Given the description of an element on the screen output the (x, y) to click on. 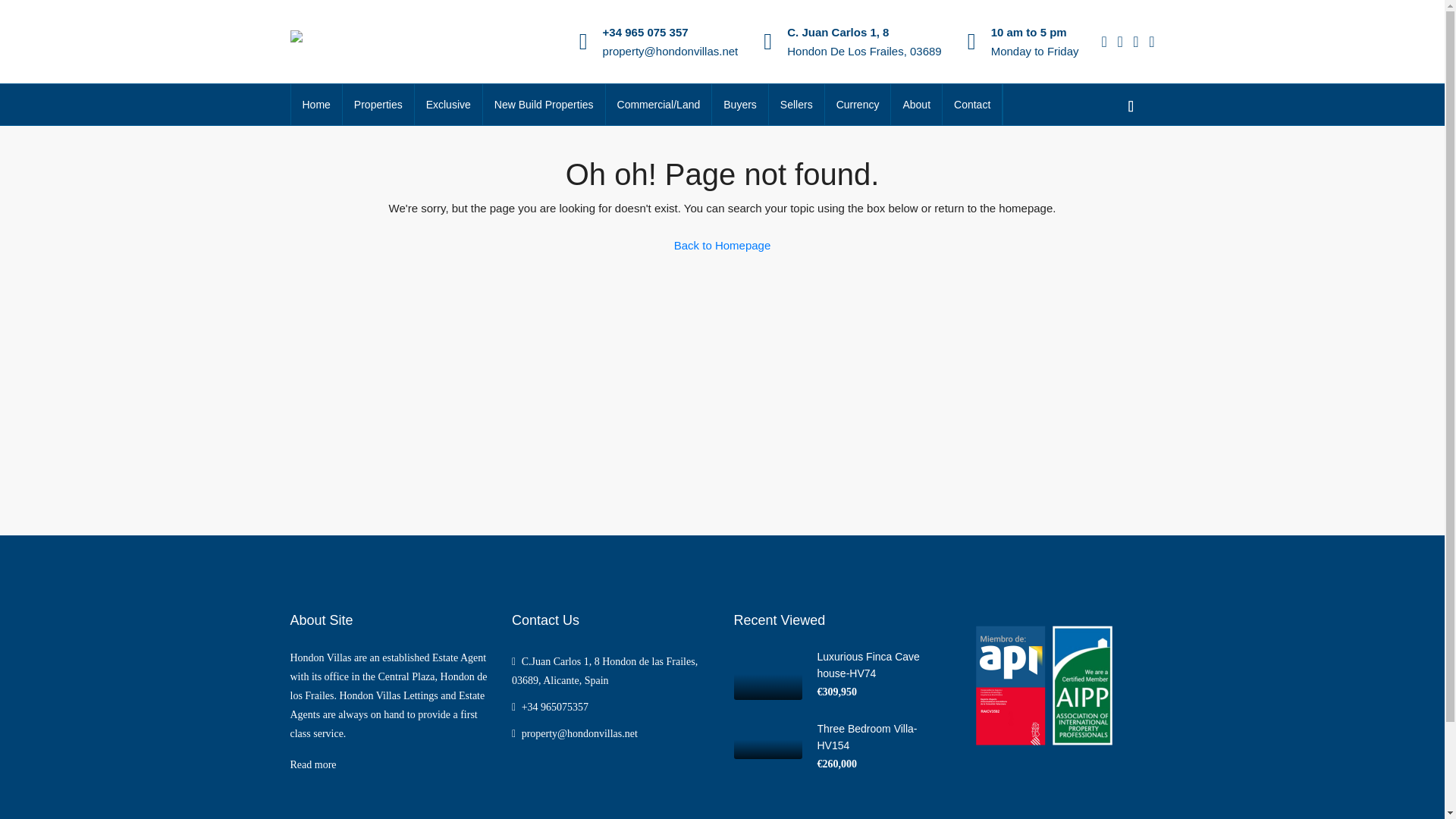
About (916, 104)
New Build Properties (544, 104)
Home (316, 104)
Currency (858, 104)
Exclusive (447, 104)
Sellers (796, 104)
Properties (377, 104)
Buyers (739, 104)
Back to Homepage (722, 245)
Contact (971, 104)
